Given the description of an element on the screen output the (x, y) to click on. 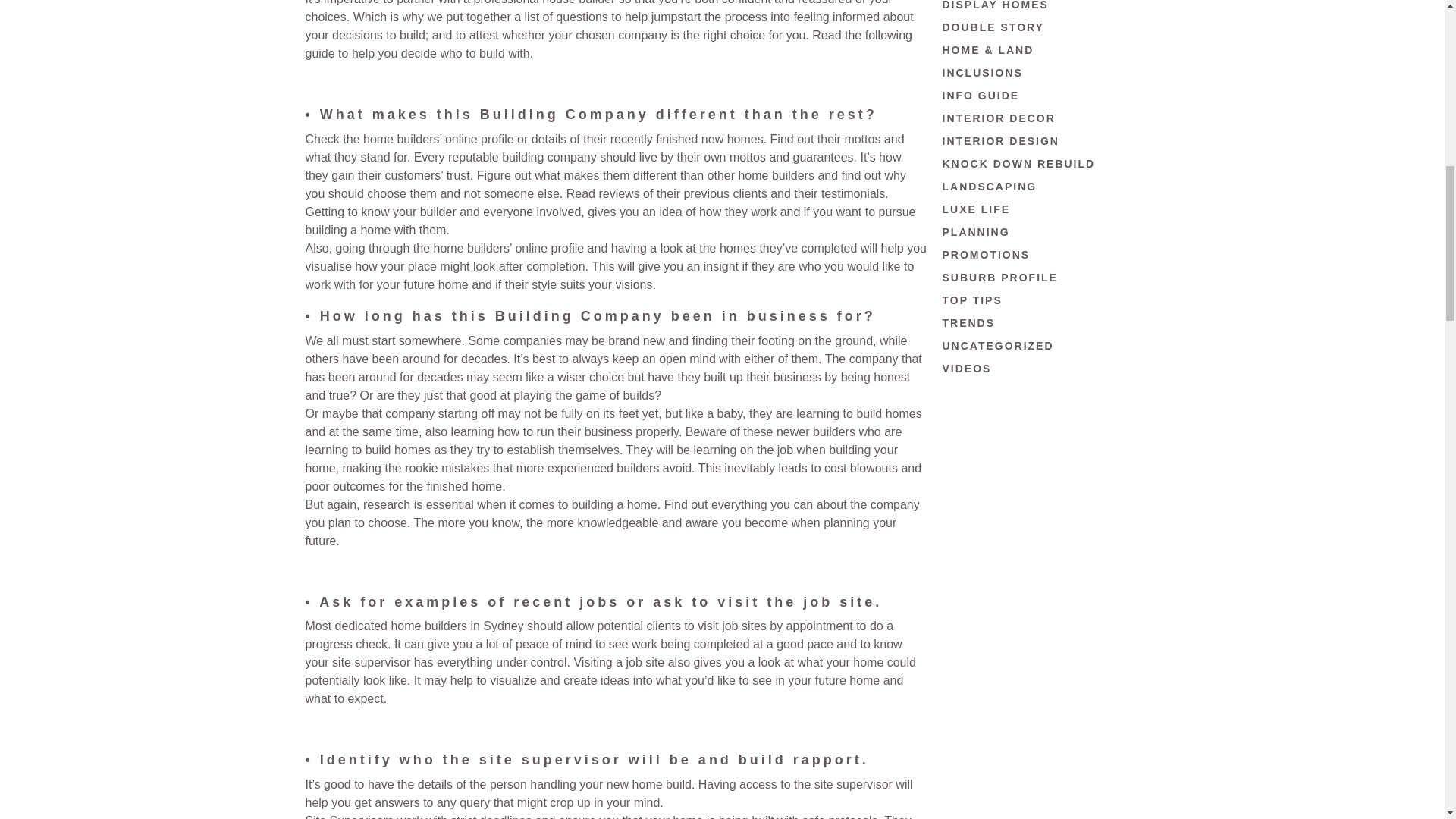
DISPLAY HOMES (995, 5)
DOUBLE STORY (992, 27)
INCLUSIONS (982, 72)
INFO GUIDE (980, 95)
